Given the description of an element on the screen output the (x, y) to click on. 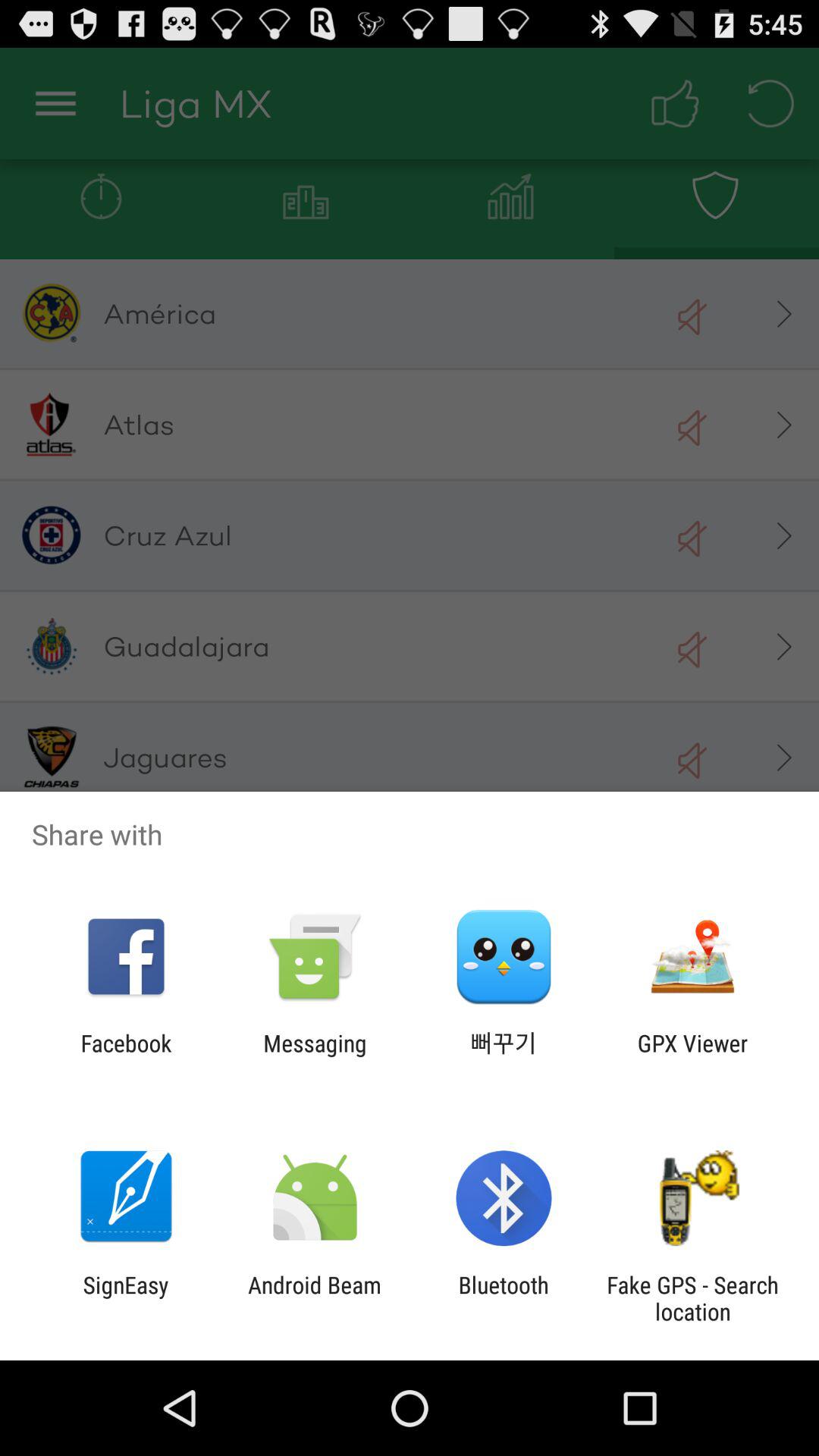
turn off the app to the right of signeasy (314, 1298)
